Given the description of an element on the screen output the (x, y) to click on. 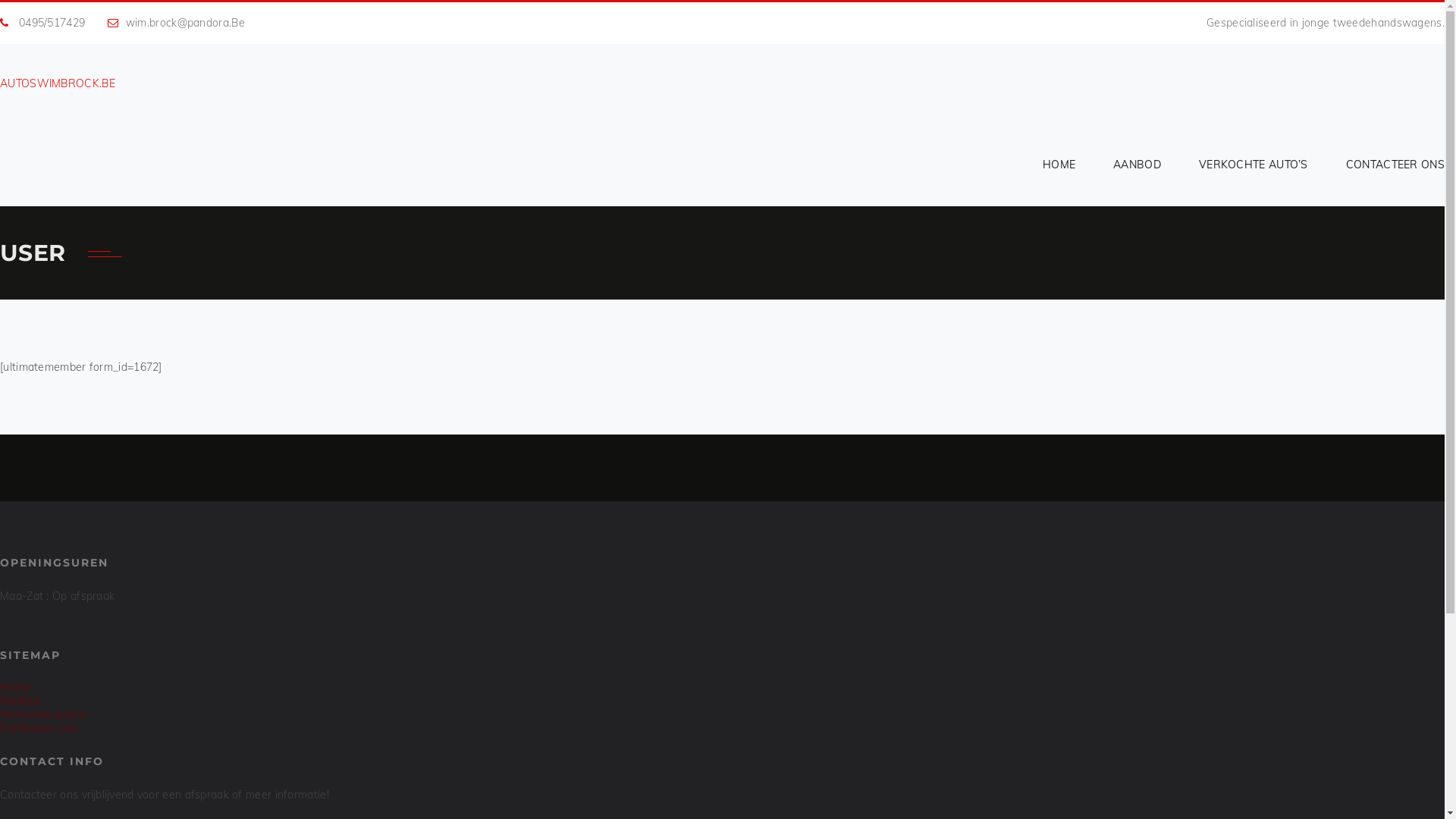
Contacteer ons Element type: text (39, 727)
CONTACTEER ONS Element type: text (1385, 164)
HOME Element type: text (1058, 164)
AANBOD Element type: text (1136, 164)
Aanbod Element type: text (19, 700)
AUTOSWIMBROCK.BE Element type: text (57, 82)
Home Element type: text (15, 686)
